Given the description of an element on the screen output the (x, y) to click on. 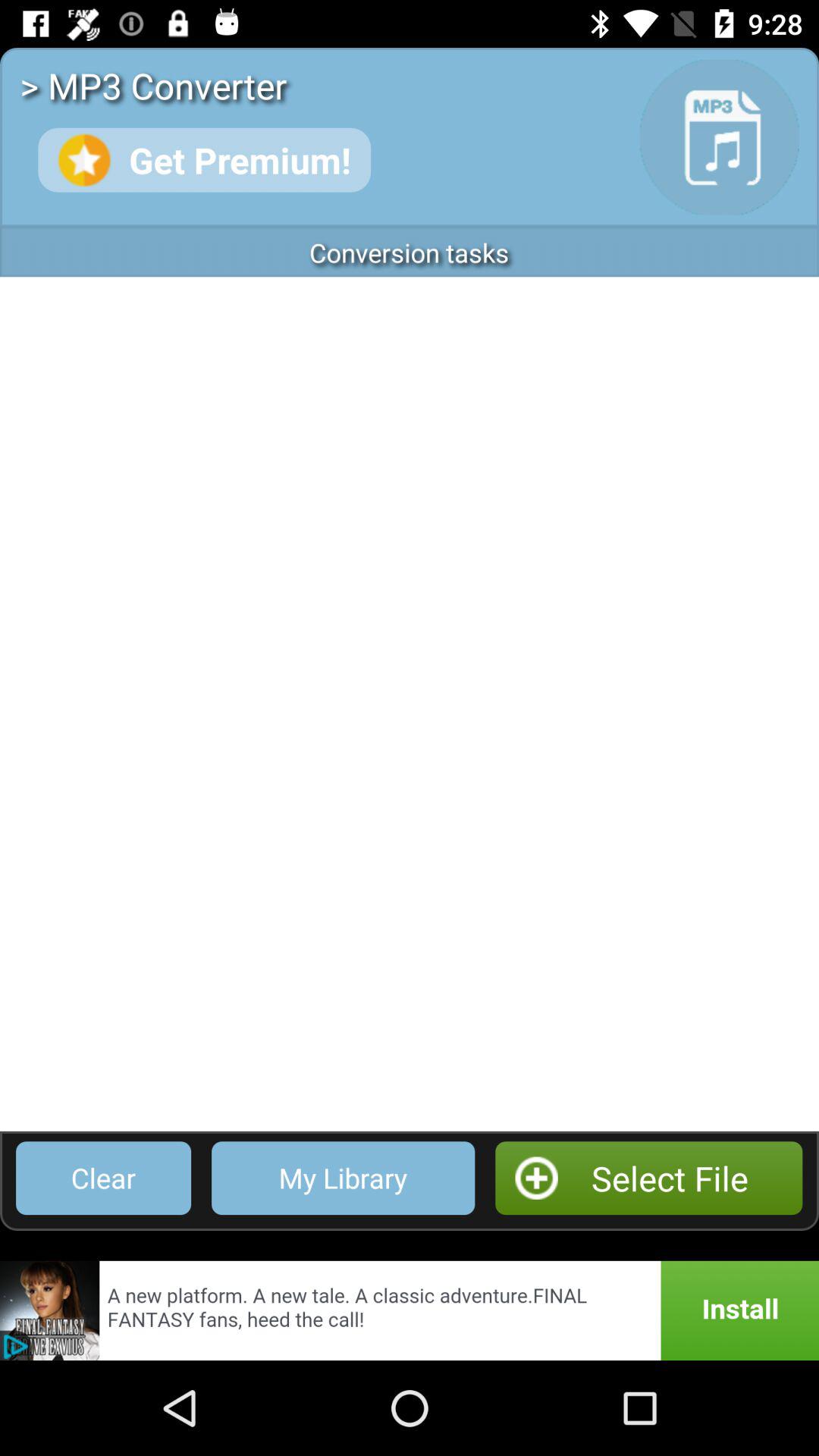
turn on item next to my library (103, 1177)
